Given the description of an element on the screen output the (x, y) to click on. 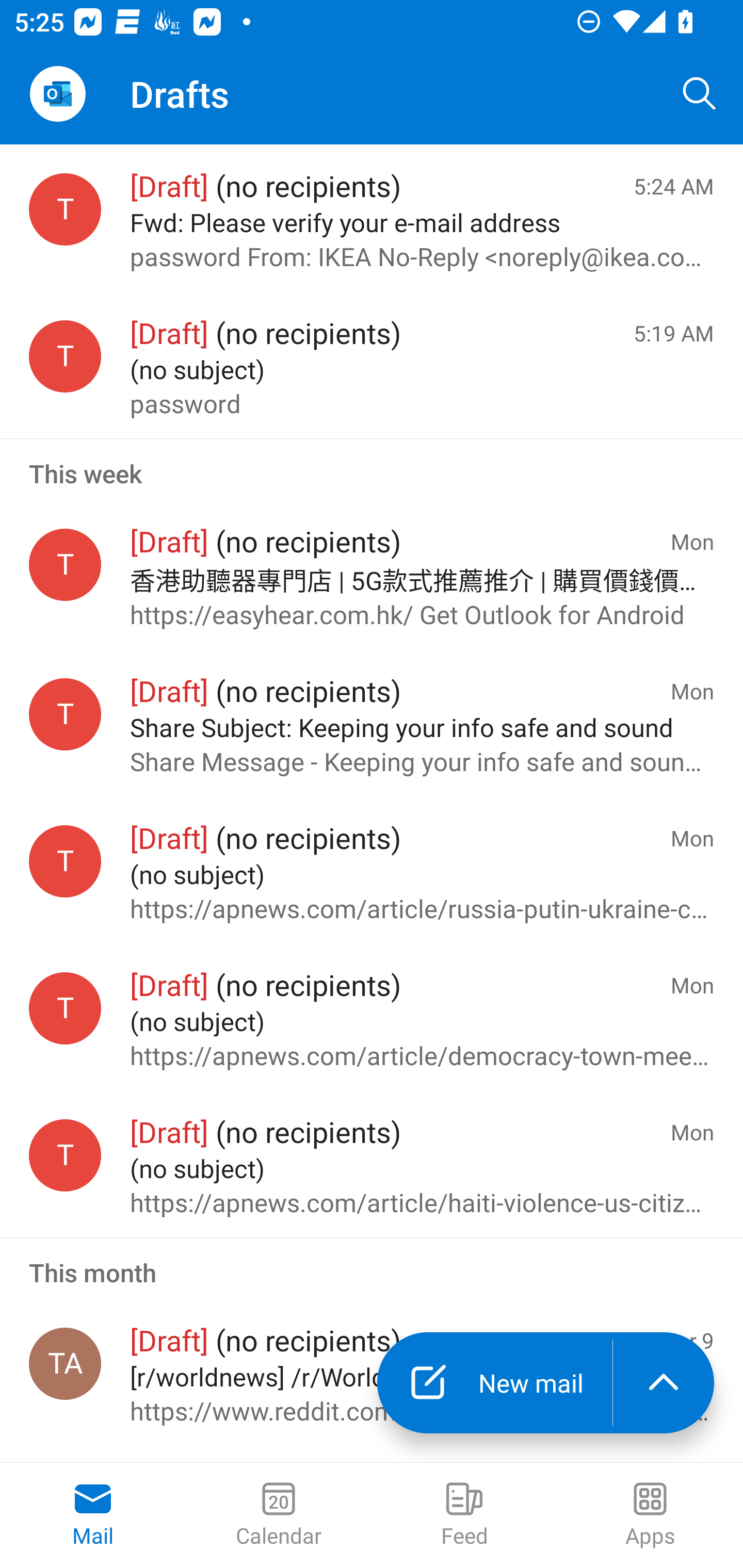
Search, ,  (699, 93)
Open Navigation Drawer (57, 94)
testappium002@outlook.com (64, 210)
testappium002@outlook.com (64, 355)
testappium002@outlook.com (64, 564)
testappium002@outlook.com (64, 714)
testappium002@outlook.com (64, 860)
testappium002@outlook.com (64, 1008)
testappium002@outlook.com (64, 1155)
Test Appium, testappium002@outlook.com (64, 1364)
New mail (494, 1382)
launch the extended action menu (663, 1382)
Calendar (278, 1515)
Feed (464, 1515)
Apps (650, 1515)
